Given the description of an element on the screen output the (x, y) to click on. 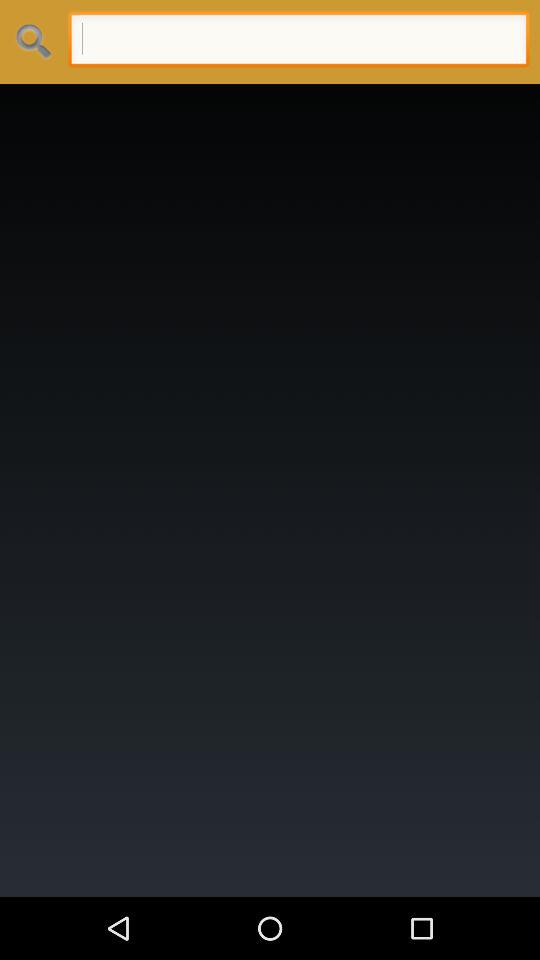
launch icon at the center (270, 489)
